Given the description of an element on the screen output the (x, y) to click on. 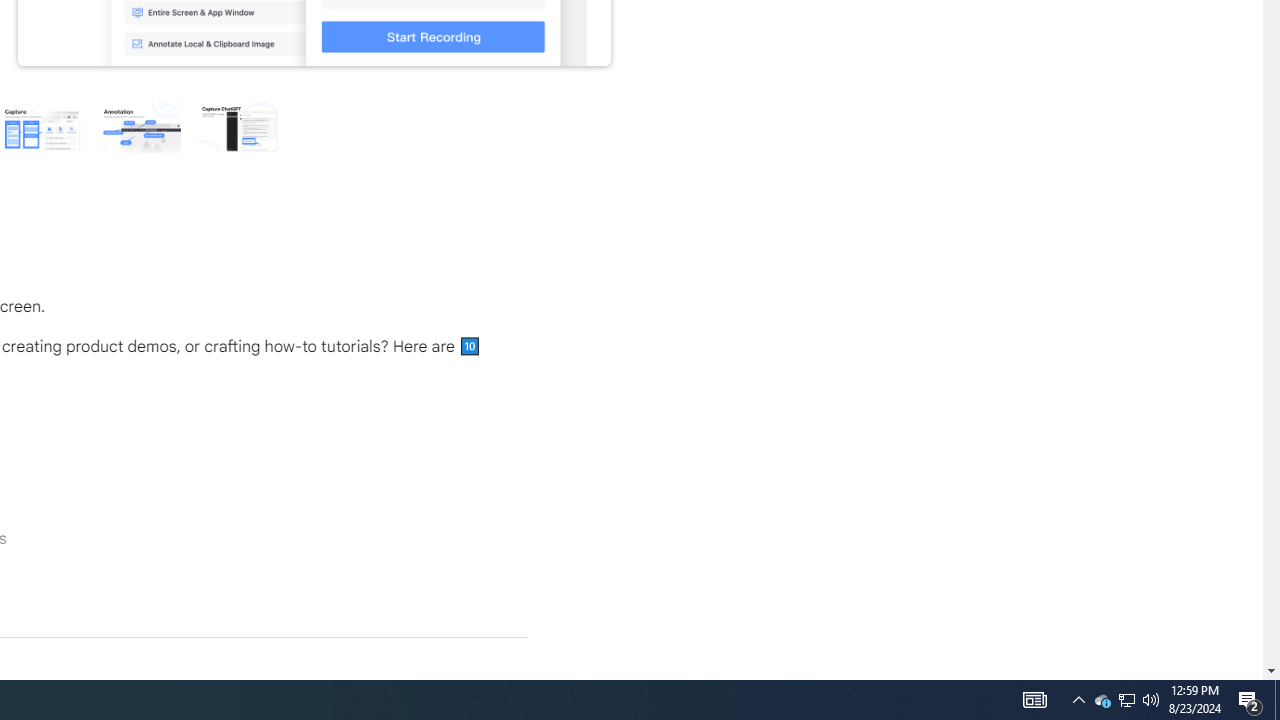
Preview slide 4 (40, 126)
Preview slide 5 (139, 126)
Preview slide 6 (238, 126)
